Given the description of an element on the screen output the (x, y) to click on. 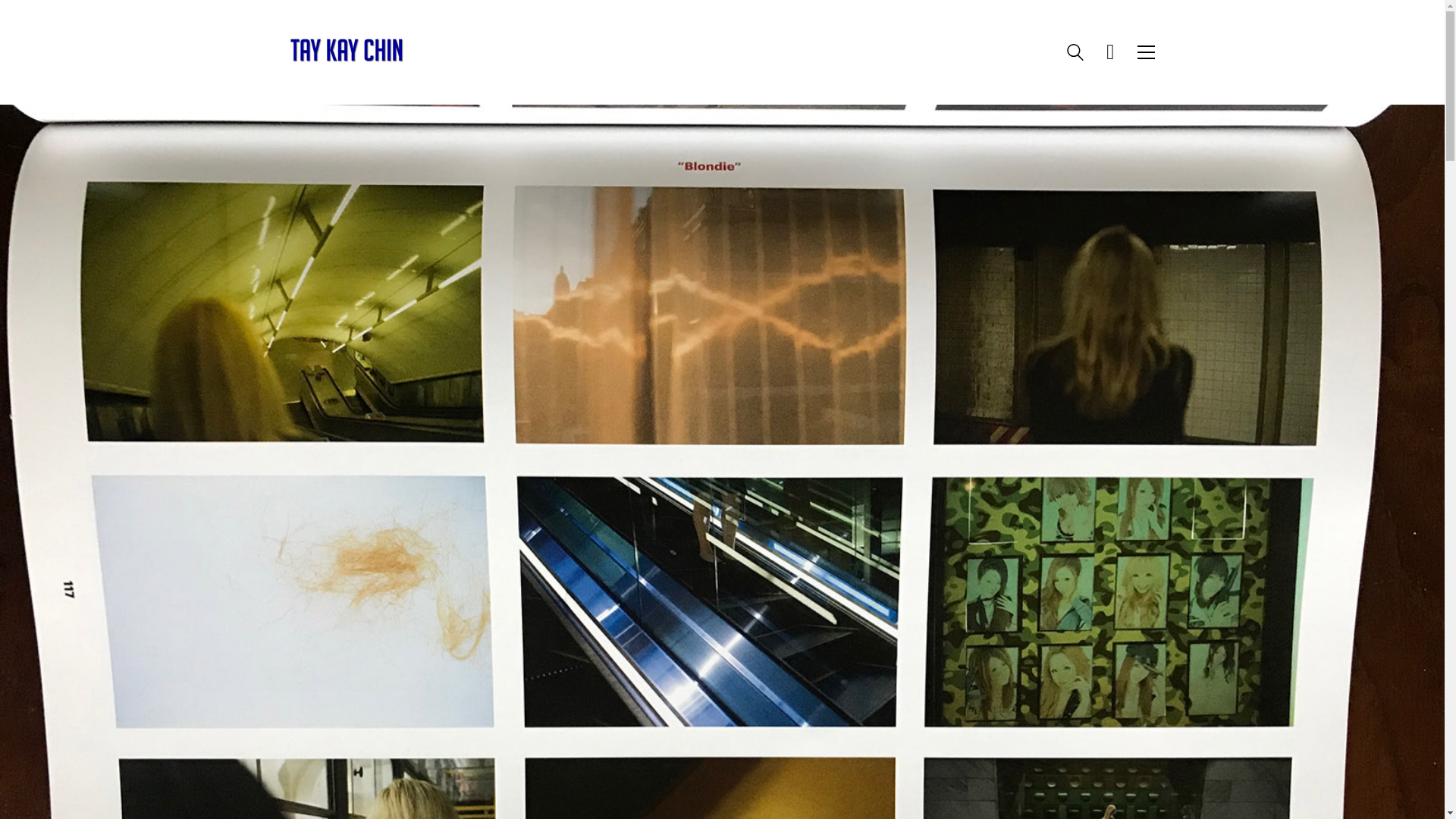
Instagram (792, 738)
Facebook (716, 738)
Twitter (754, 738)
Email (641, 738)
WhatsApp (678, 738)
